Given the description of an element on the screen output the (x, y) to click on. 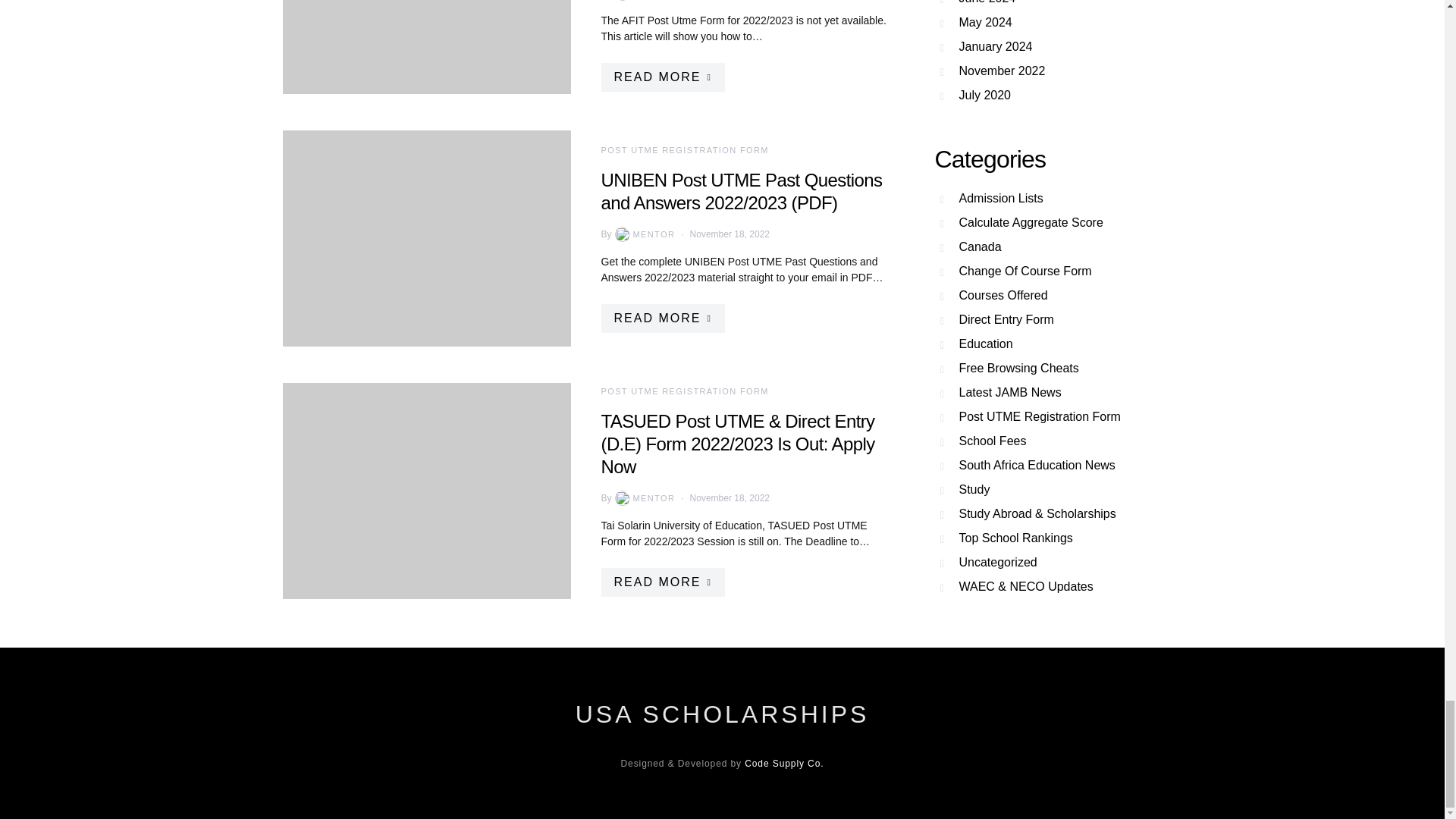
View all posts by Mentor (643, 233)
View all posts by Mentor (643, 0)
View all posts by Mentor (643, 498)
